Given the description of an element on the screen output the (x, y) to click on. 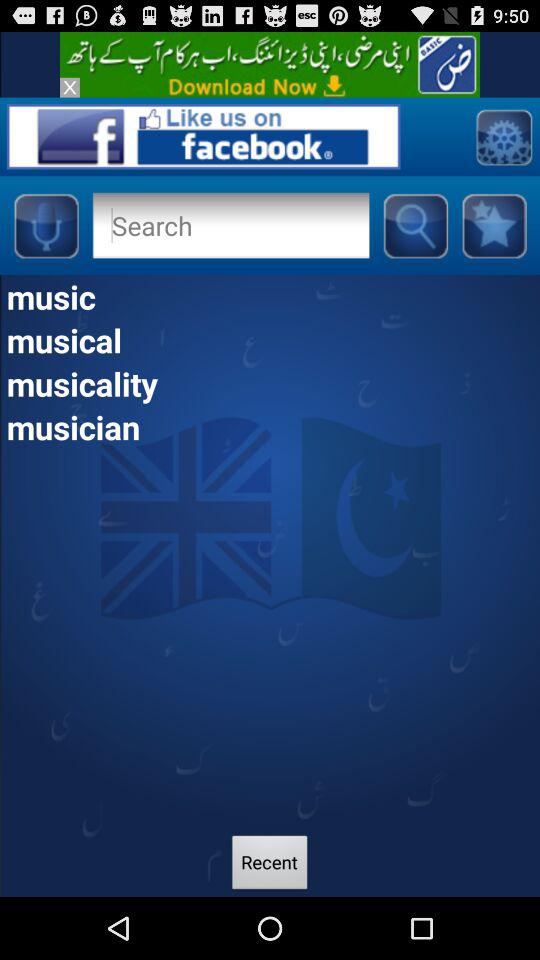
close advertisement (69, 87)
